Given the description of an element on the screen output the (x, y) to click on. 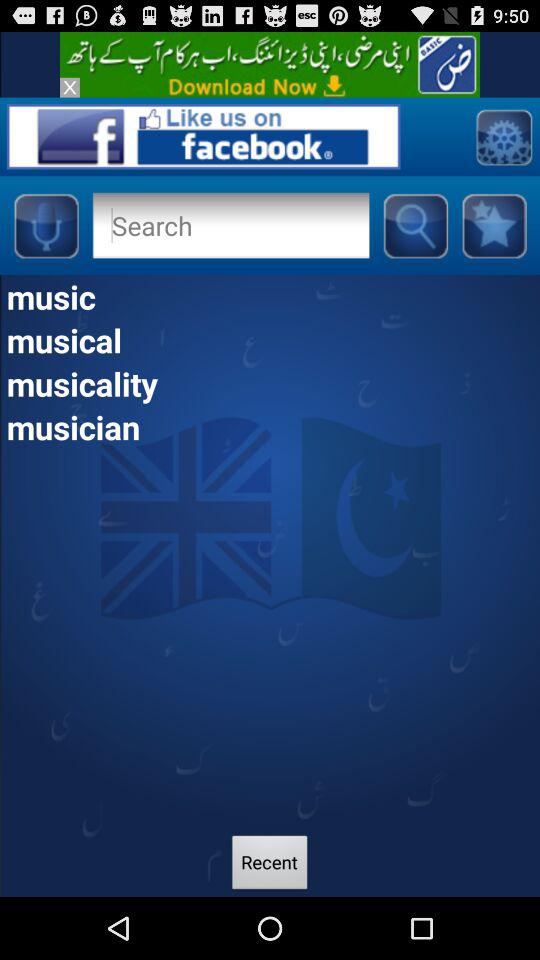
close advertisement (69, 87)
